Given the description of an element on the screen output the (x, y) to click on. 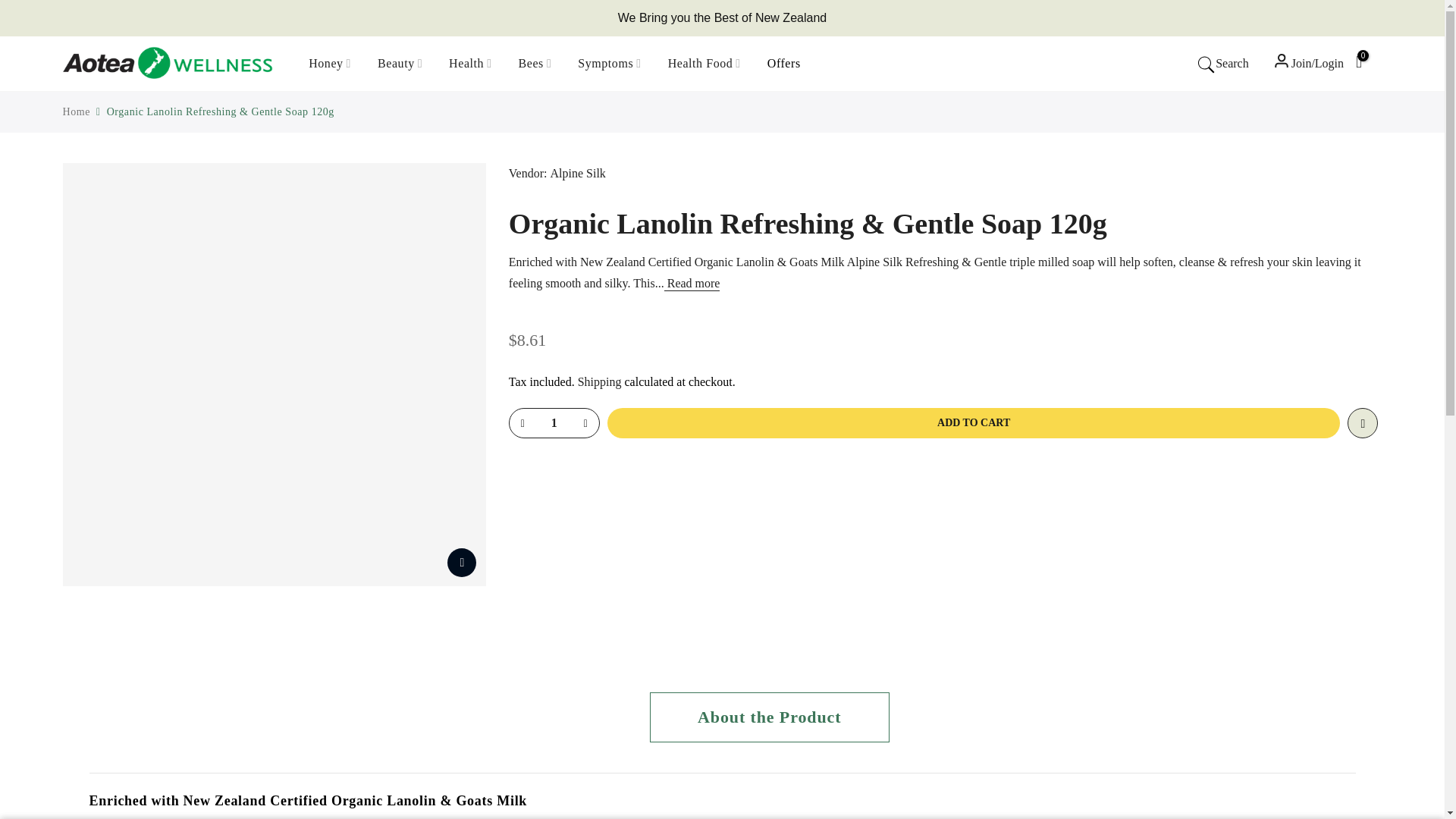
1 (553, 422)
Search (1223, 63)
Alpine Silk (577, 173)
Bees (534, 63)
Health Food (703, 63)
Health (470, 63)
Beauty (400, 63)
Symptoms (608, 63)
Honey (330, 63)
Offers (783, 63)
